Given the description of an element on the screen output the (x, y) to click on. 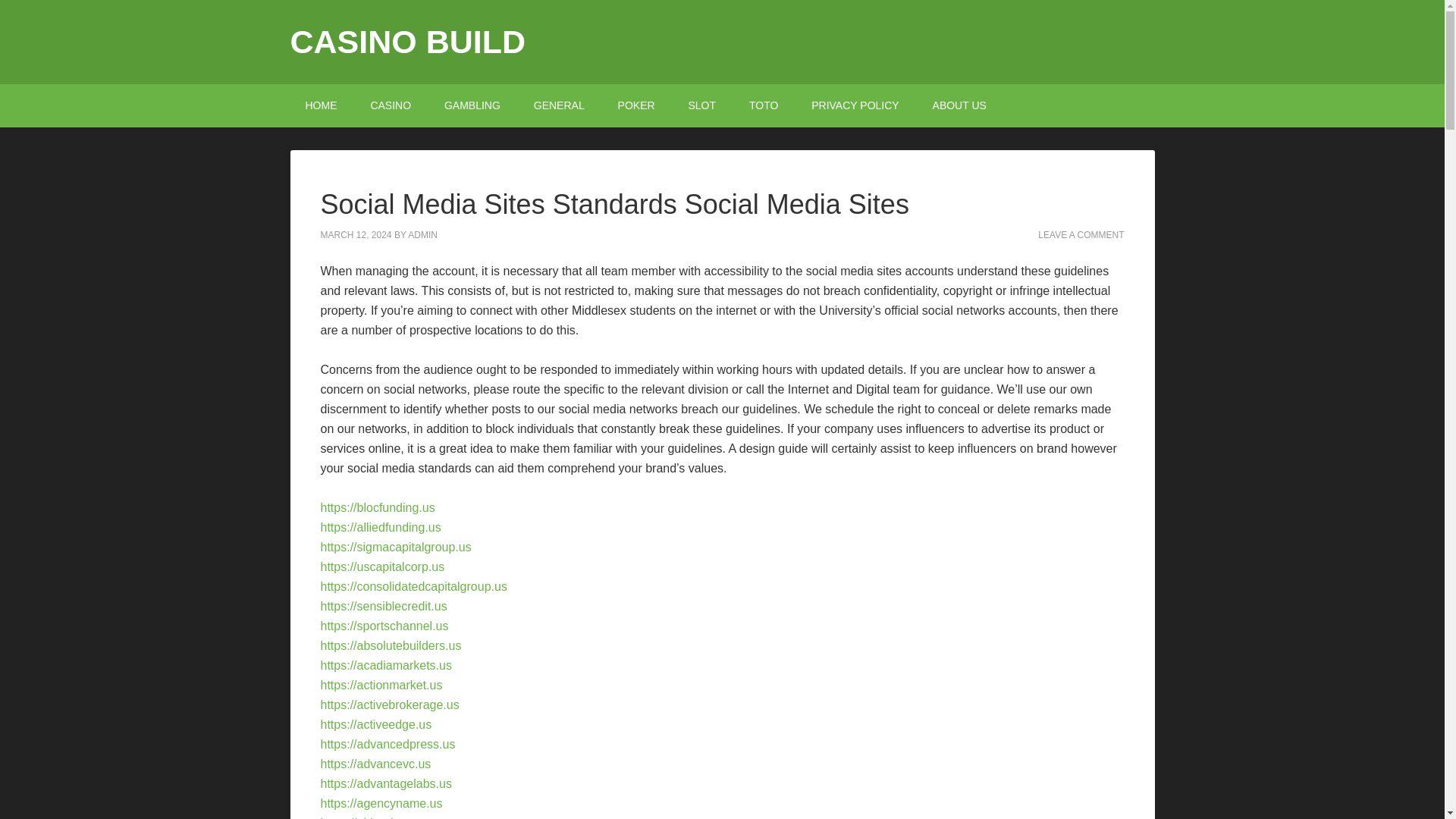
ABOUT US (959, 105)
ADMIN (422, 235)
LEAVE A COMMENT (1081, 235)
CASINO BUILD (407, 41)
PRIVACY POLICY (855, 105)
POKER (635, 105)
HOME (320, 105)
GENERAL (558, 105)
SLOT (701, 105)
GAMBLING (472, 105)
CASINO (390, 105)
TOTO (763, 105)
